Given the description of an element on the screen output the (x, y) to click on. 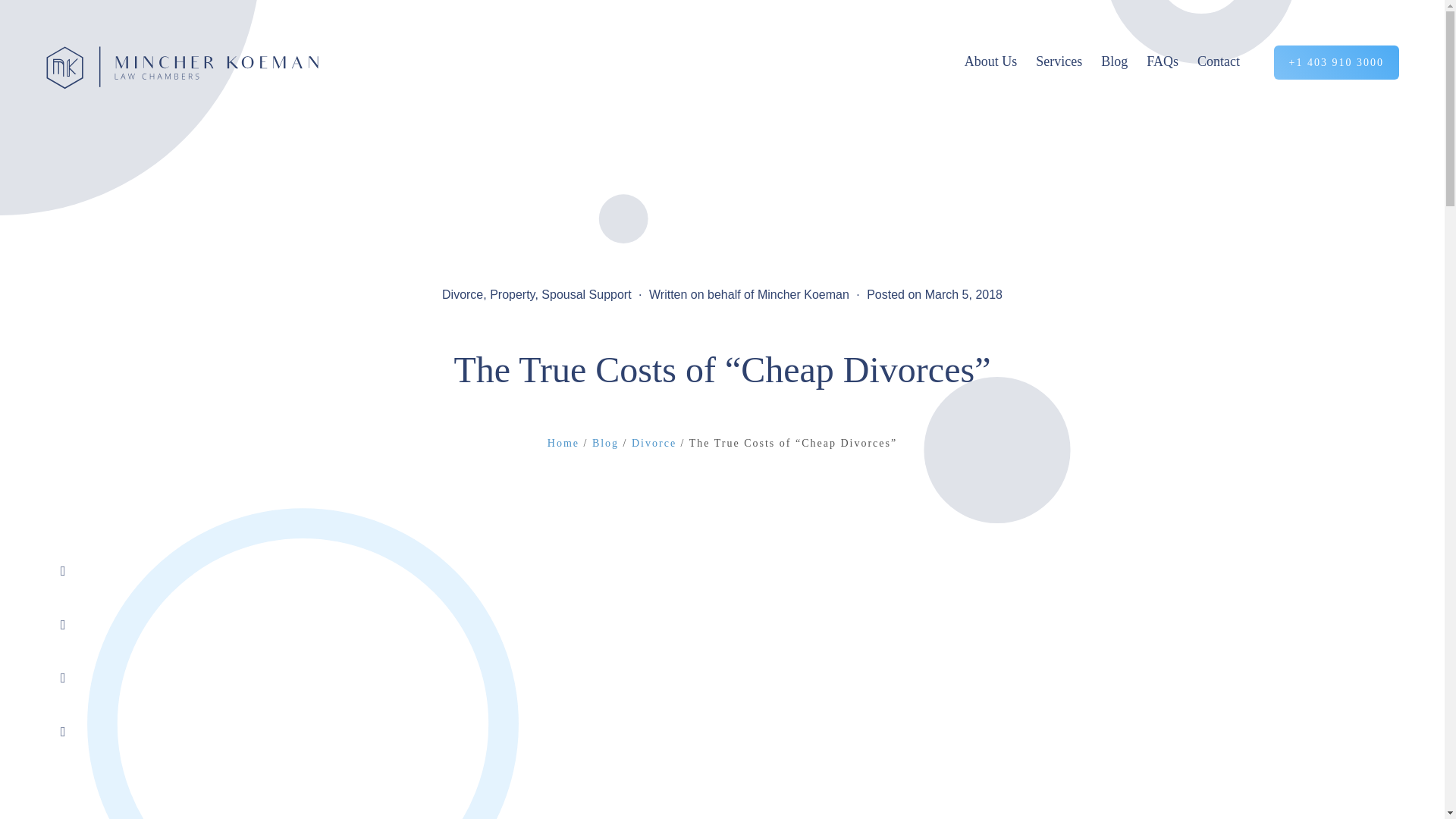
Blog (605, 442)
Divorce (654, 442)
Home (563, 442)
Services (1066, 61)
About Us (998, 61)
